Given the description of an element on the screen output the (x, y) to click on. 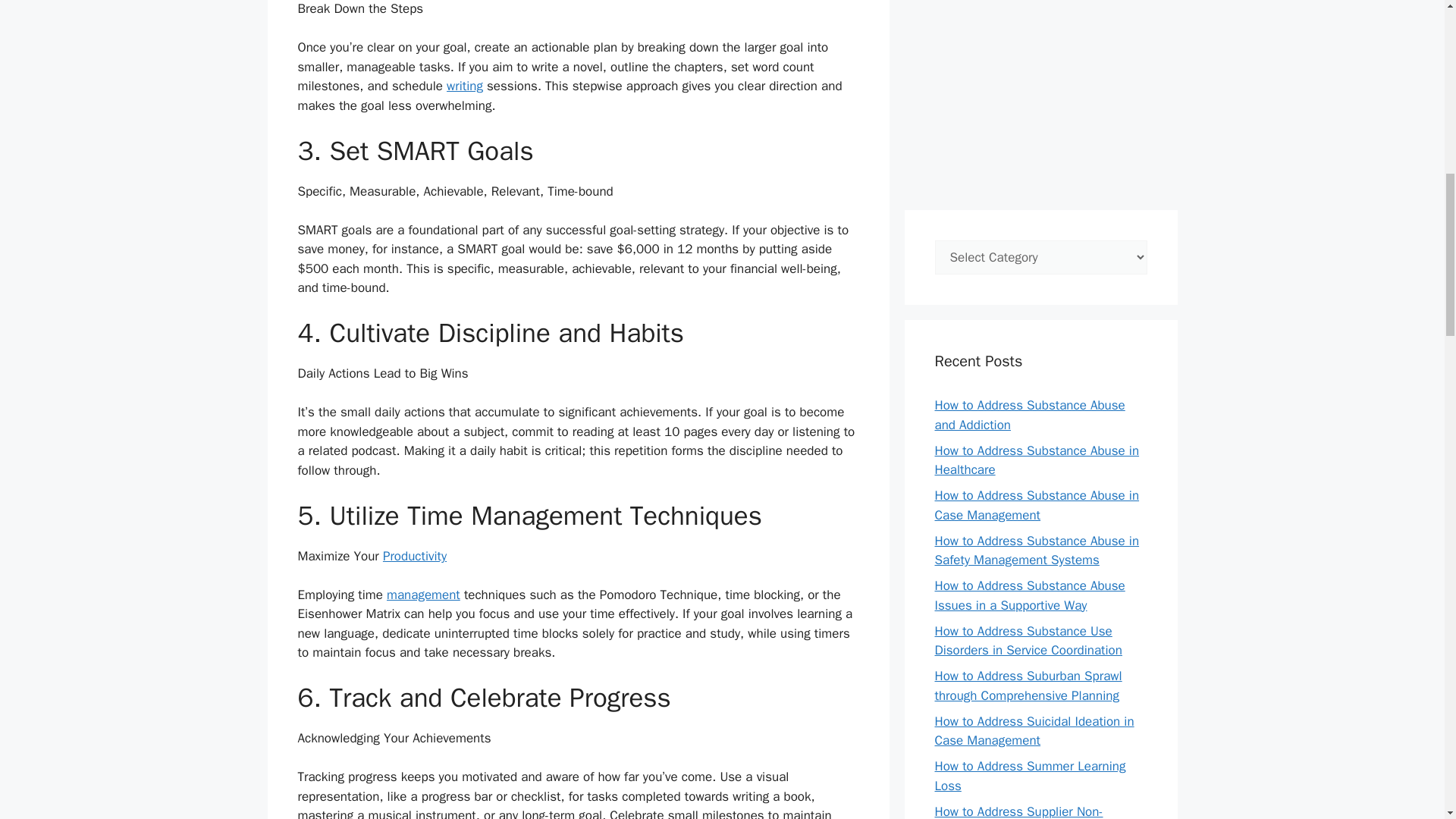
writing (464, 85)
Advertisement (1040, 97)
management (423, 594)
Productivity (414, 555)
